Given the description of an element on the screen output the (x, y) to click on. 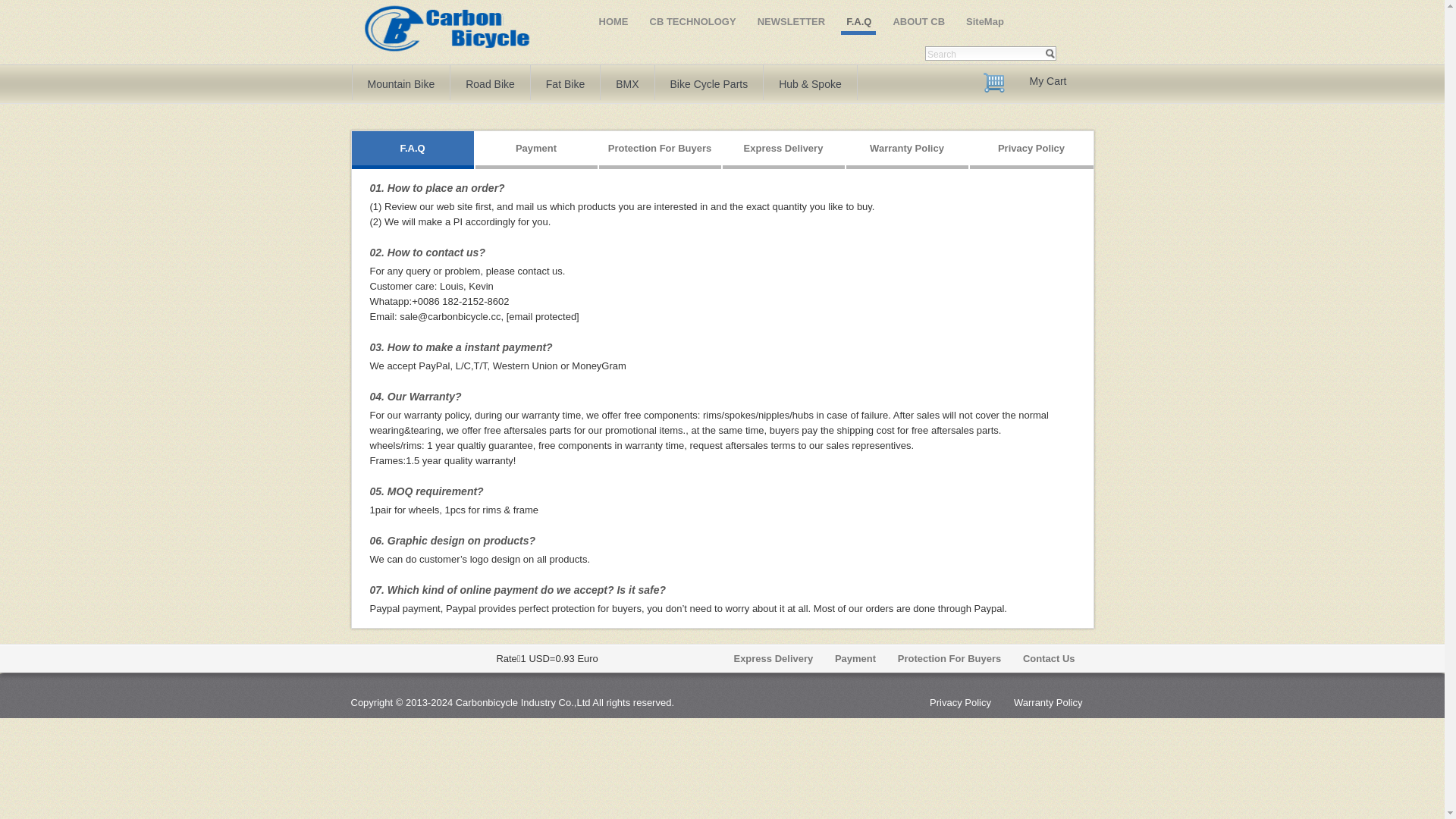
BMX Element type: text (626, 82)
Privacy Policy Element type: text (960, 702)
Fat Bike Element type: text (564, 82)
My Cart Element type: text (1048, 82)
HOME Element type: text (612, 20)
ABOUT CB Element type: text (918, 20)
Search Element type: hover (983, 54)
[email protected] Element type: text (542, 316)
Mountain Bike Element type: text (400, 82)
Express Delivery Element type: text (772, 658)
Warranty Policy Element type: text (1048, 702)
Road Bike Element type: text (490, 82)
Hub & Spoke Element type: text (809, 82)
Contact Us Element type: text (1048, 658)
Bike Cycle Parts Element type: text (709, 82)
F.A.Q Element type: text (857, 21)
Payment Element type: text (854, 658)
sale@carbonbicycle.cc Element type: text (449, 316)
SiteMap Element type: text (984, 20)
CB TECHNOLOGY Element type: text (692, 20)
Protection For Buyers Element type: text (949, 658)
NEWSLETTER Element type: text (791, 20)
